Given the description of an element on the screen output the (x, y) to click on. 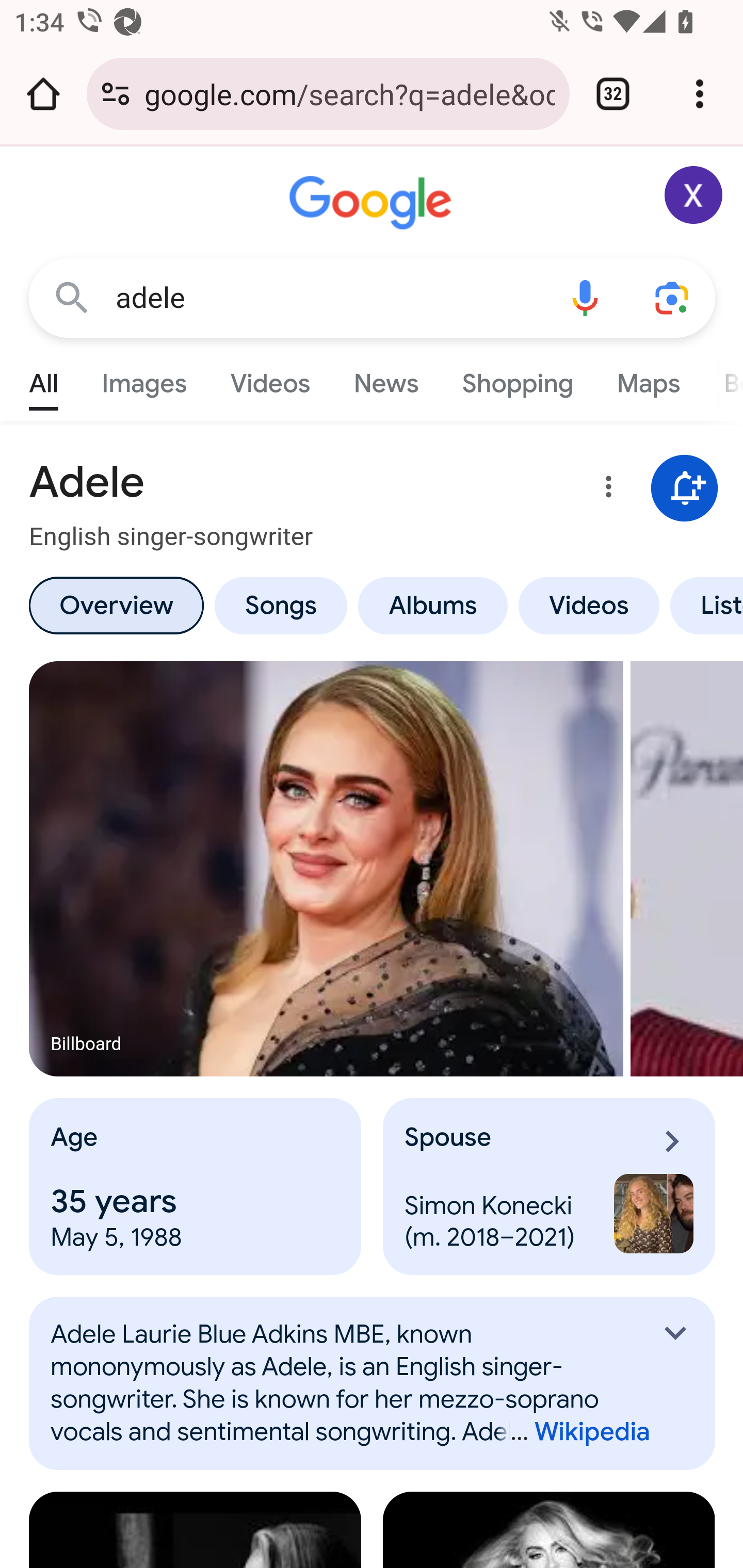
Open the home page (43, 93)
Connection is secure (115, 93)
Switch or close tabs (612, 93)
Customize and control Google Chrome (699, 93)
Google (372, 203)
Google Account: Xiaoran (zxrappiumtest@gmail.com) (694, 195)
Google Search (71, 296)
Search using your camera or photos (672, 296)
adele (328, 297)
Images (144, 378)
Videos (270, 378)
News (385, 378)
Shopping (516, 378)
Maps (647, 378)
Get notifications about Adele (684, 489)
More options (605, 489)
Overview (116, 605)
Songs (280, 605)
Albums (433, 605)
Videos (589, 605)
Age 35 years May 5, 1988 Age 35 years May 5, 1988 (195, 1186)
Wikipedia (572, 1431)
